Given the description of an element on the screen output the (x, y) to click on. 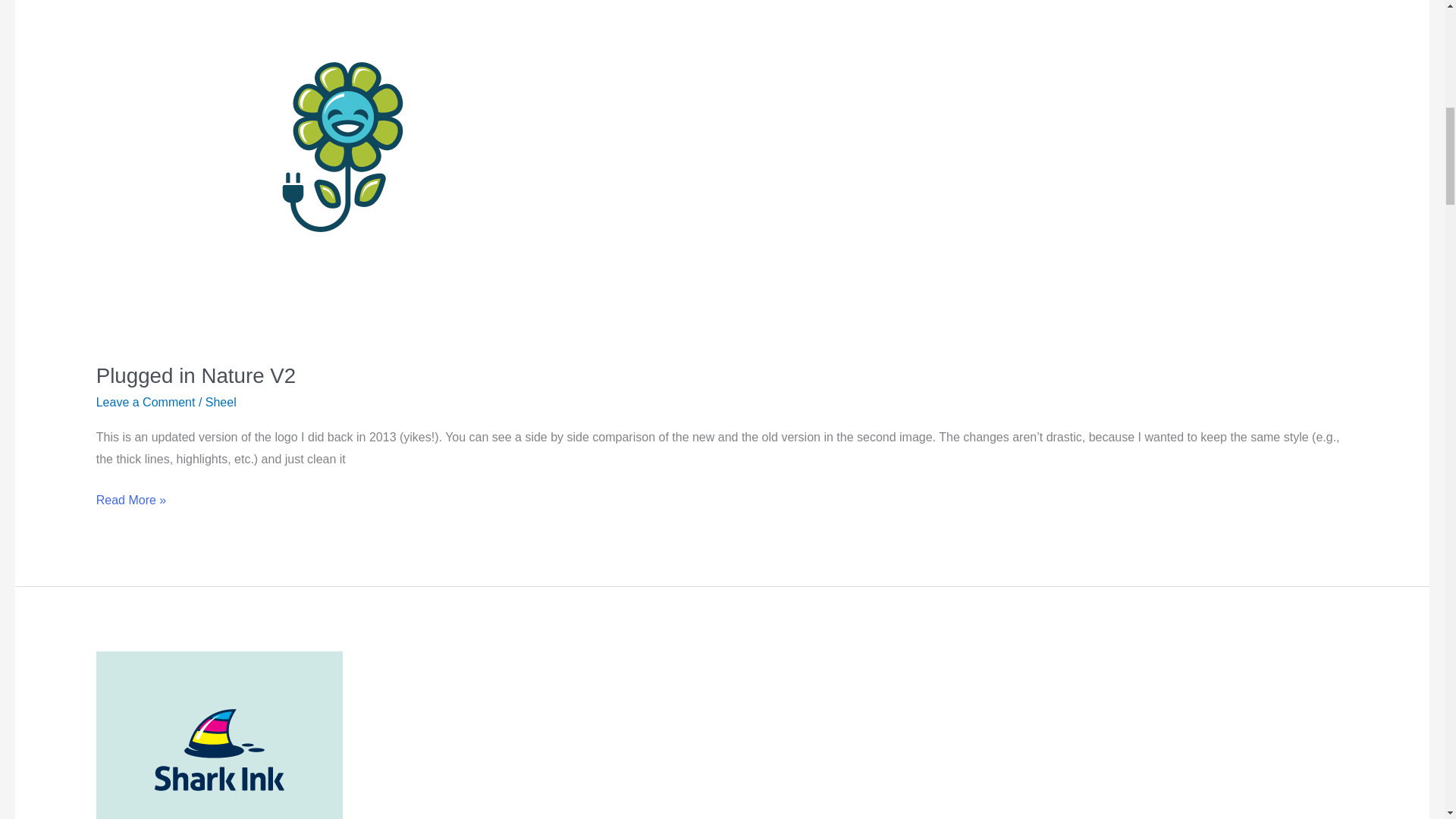
Leave a Comment (145, 401)
Plugged in Nature V2 (196, 375)
View all posts by Sheel (220, 401)
Sheel (220, 401)
